Given the description of an element on the screen output the (x, y) to click on. 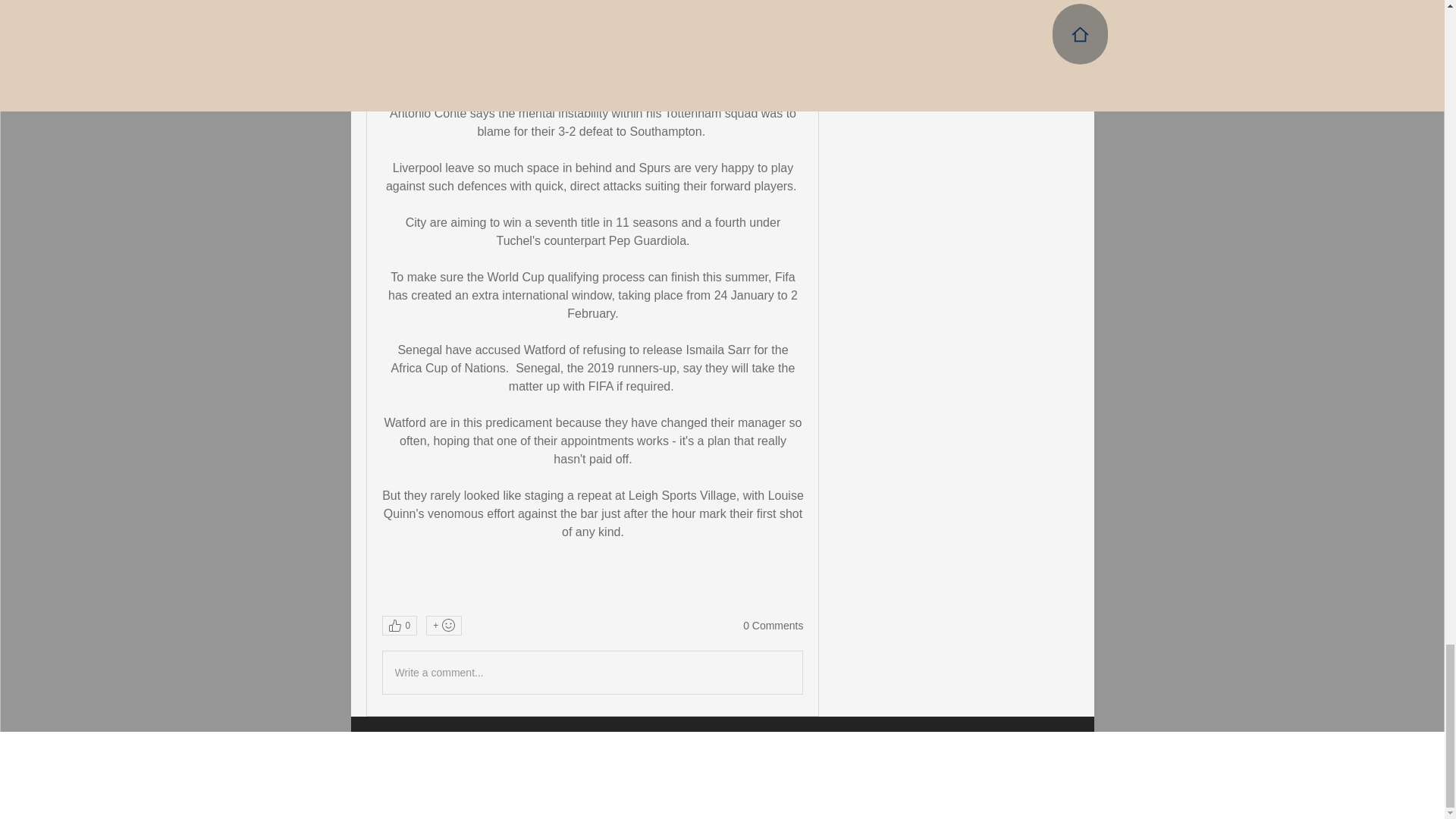
0 Comments (772, 626)
Write a comment... (591, 672)
